Given the description of an element on the screen output the (x, y) to click on. 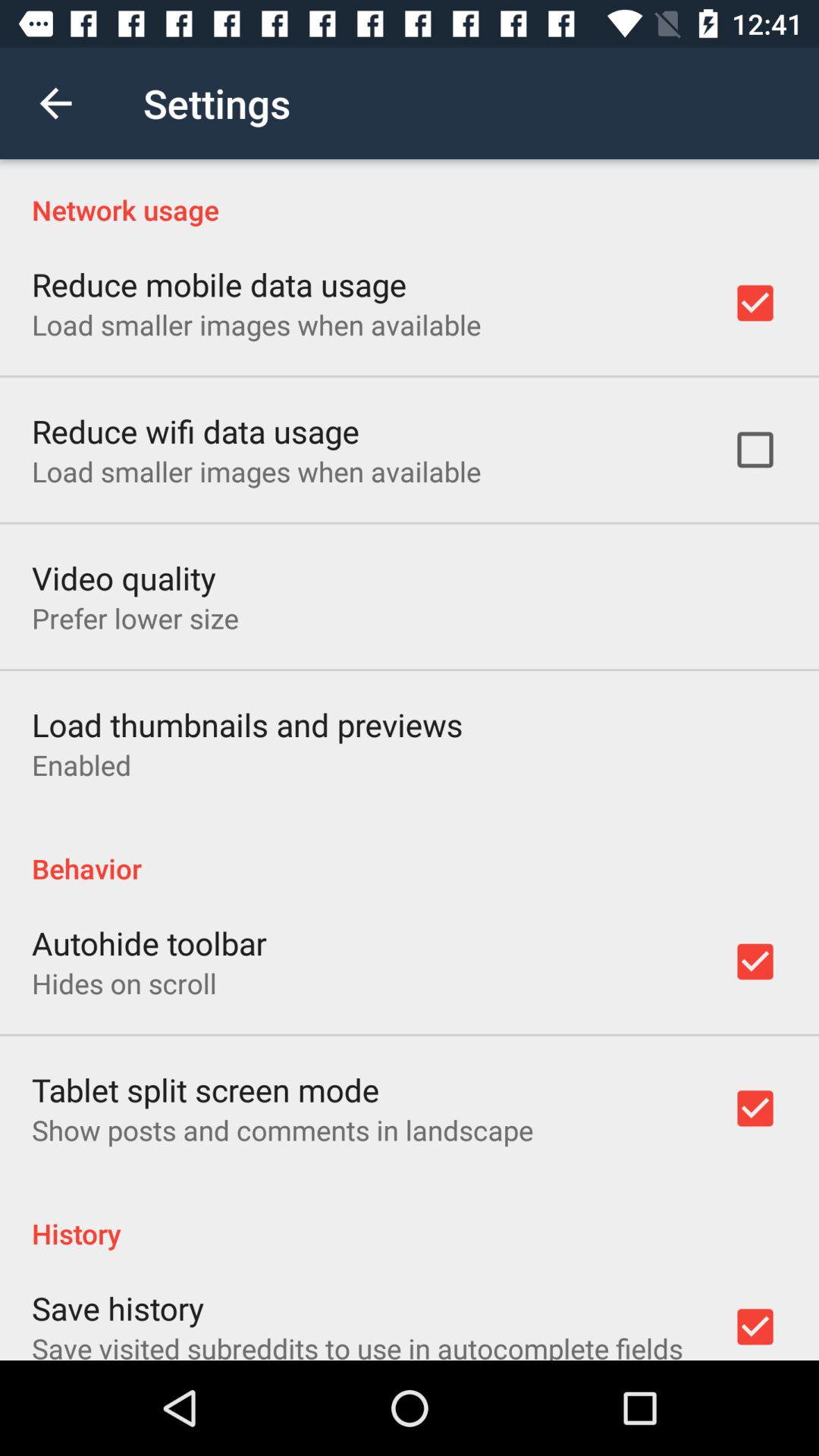
press the enabled icon (81, 764)
